Given the description of an element on the screen output the (x, y) to click on. 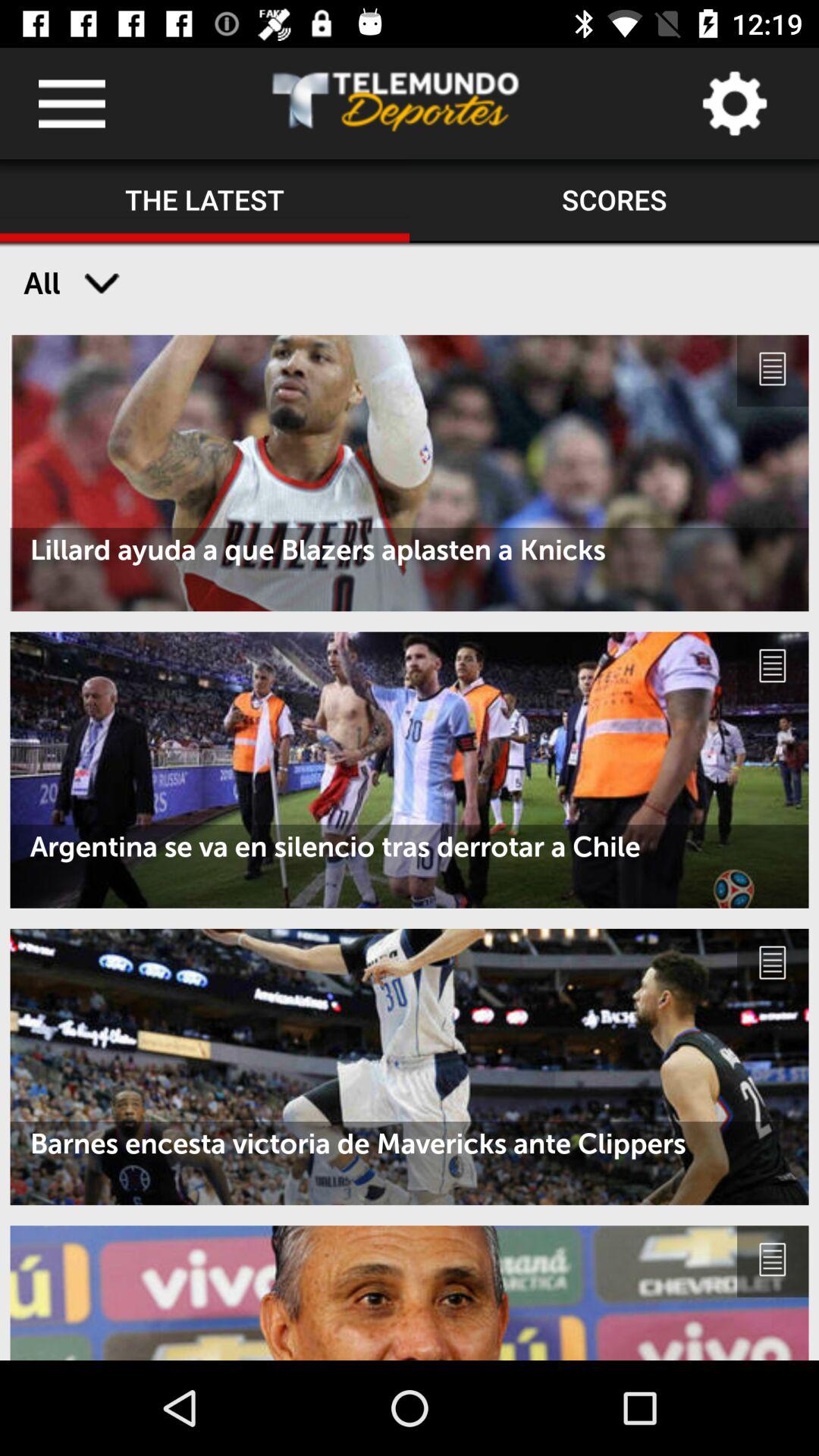
turn on lillard ayuda a (409, 549)
